Given the description of an element on the screen output the (x, y) to click on. 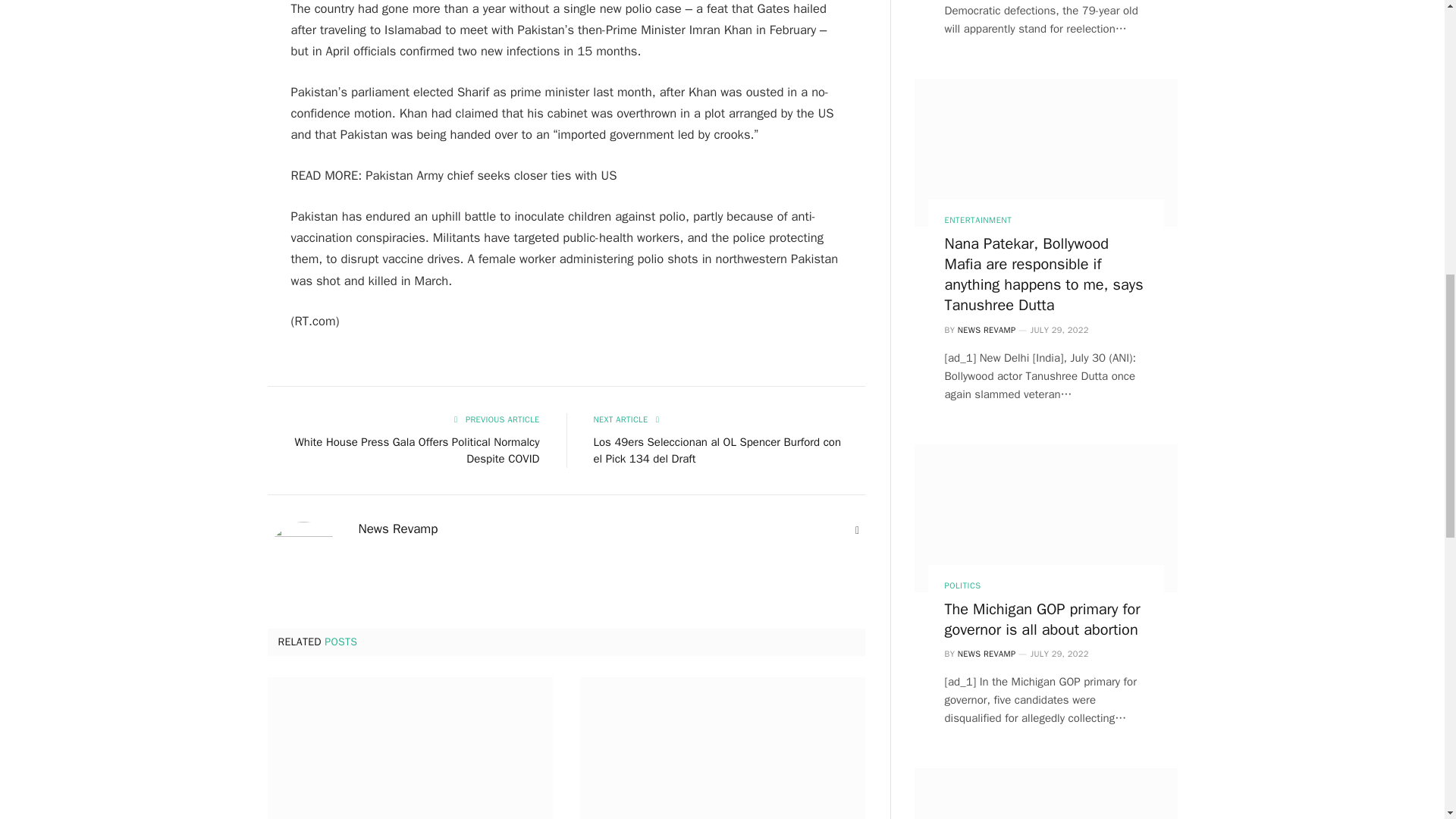
Website (856, 530)
Website (856, 530)
News Revamp (398, 529)
U.S. becomes top natural gas exporter in first half of 2022 (721, 748)
Posts by News Revamp (398, 529)
Biden is running in 2024 White House (408, 748)
